Given the description of an element on the screen output the (x, y) to click on. 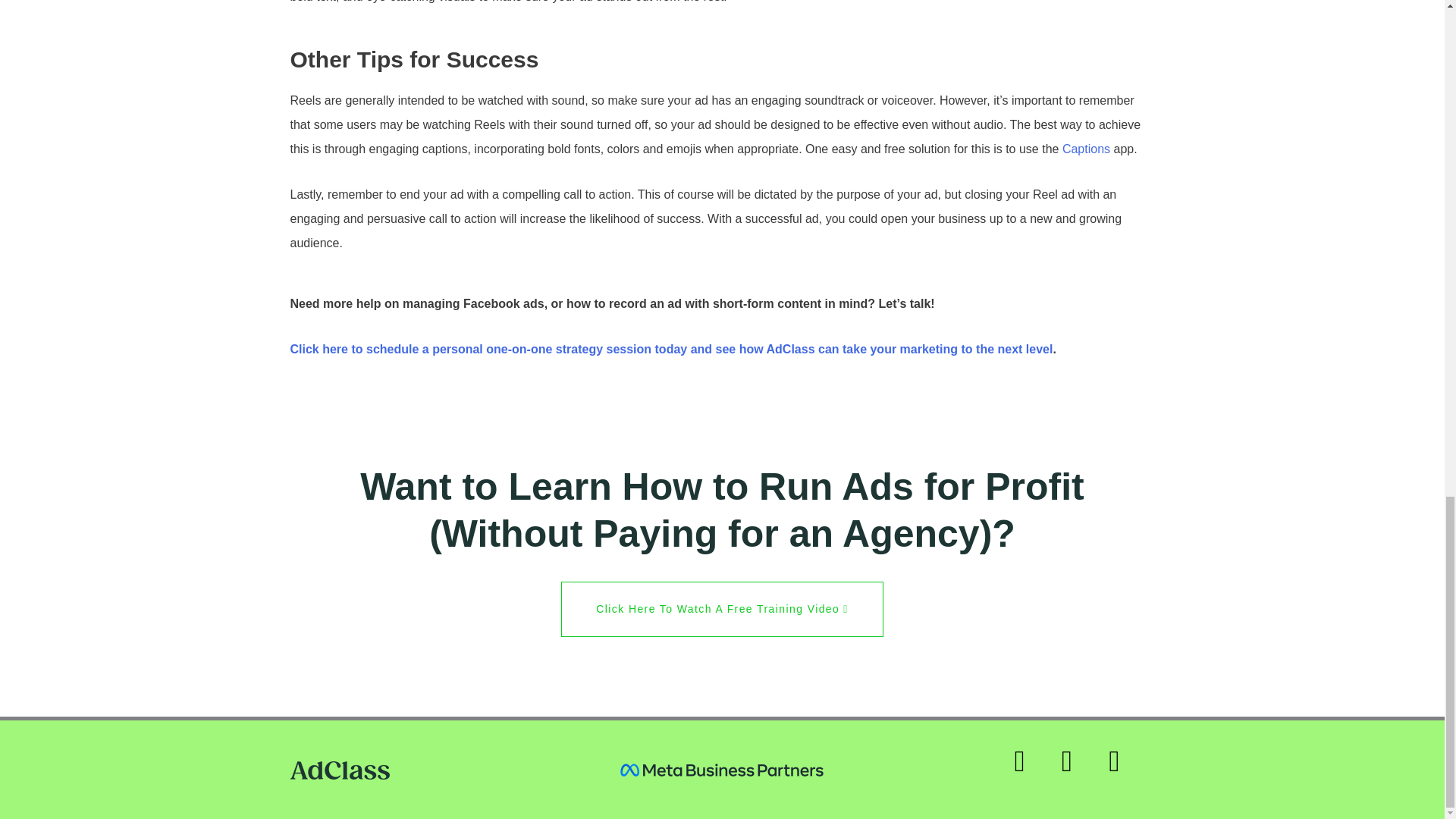
Facebook (1075, 769)
Captions (1085, 148)
Youtube (1123, 769)
Click Here To Watch A Free Training Video (721, 609)
Instagram (1027, 769)
